Given the description of an element on the screen output the (x, y) to click on. 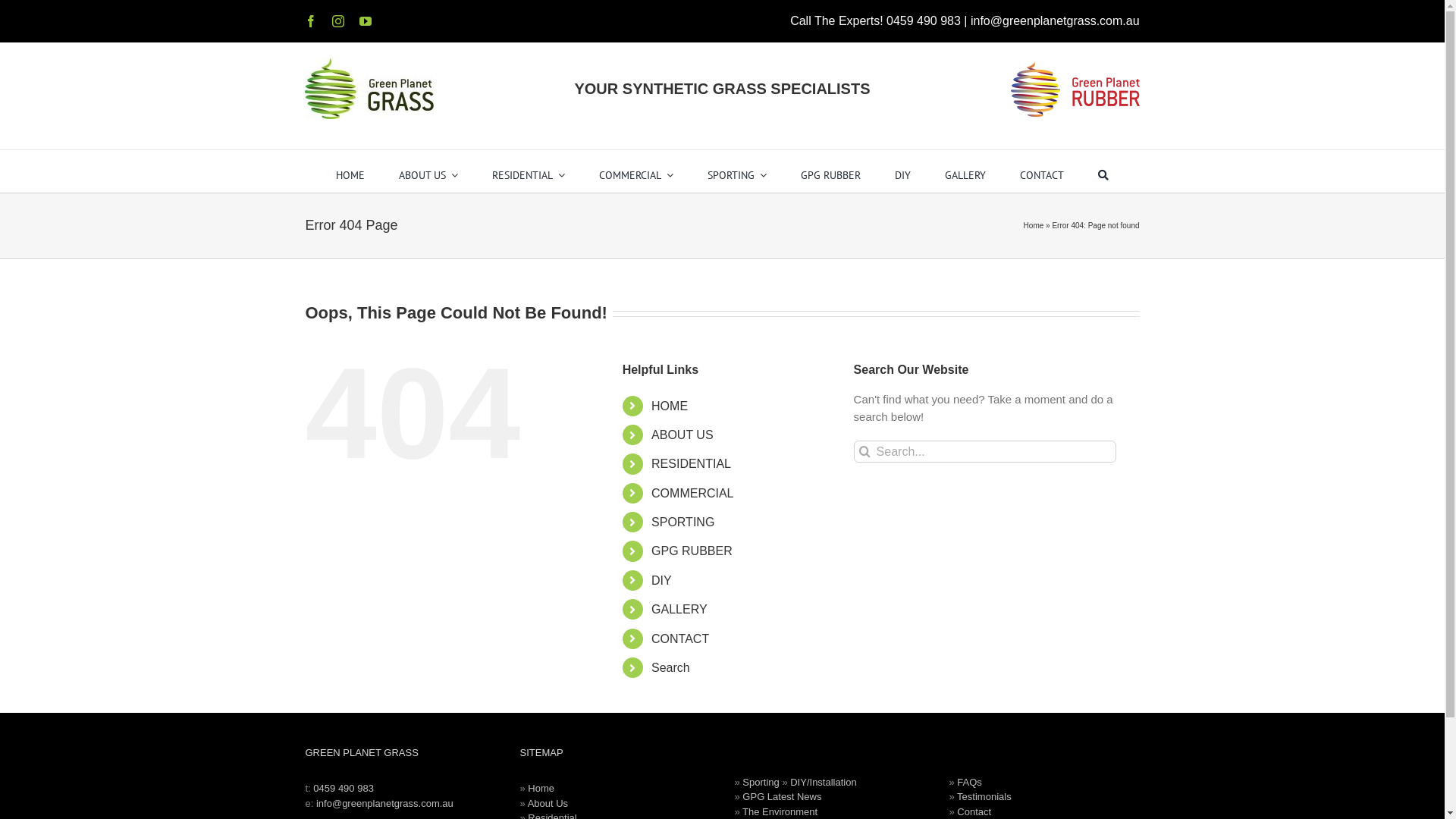
Testimonials Element type: text (984, 796)
COMMERCIAL Element type: text (636, 171)
RESIDENTIAL Element type: text (528, 171)
Search Element type: text (670, 667)
Home Element type: text (540, 787)
RESIDENTIAL Element type: text (691, 463)
GPG Latest News Element type: text (781, 796)
ABOUT US Element type: text (682, 434)
GALLERY Element type: text (679, 608)
0459 490 983 Element type: text (923, 20)
HOME Element type: text (349, 171)
GPG RUBBER Element type: text (691, 550)
DIY/Installation Element type: text (823, 781)
DIY Element type: text (661, 580)
DIY Element type: text (902, 171)
HOME Element type: text (669, 405)
CONTACT Element type: text (680, 638)
Home Element type: text (1033, 225)
SPORTING Element type: text (682, 521)
The Environment Element type: text (779, 811)
About Us Element type: text (547, 803)
GPG RUBBER Element type: text (830, 171)
0459 490 983 Element type: text (343, 787)
ABOUT US Element type: text (428, 171)
Search Element type: hover (1103, 171)
Sporting Element type: text (761, 781)
COMMERCIAL Element type: text (692, 492)
SPORTING Element type: text (736, 171)
Contact Element type: text (974, 811)
CONTACT Element type: text (1041, 171)
info@greenplanetgrass.com.au Element type: text (1054, 20)
FAQs Element type: text (969, 781)
GALLERY Element type: text (964, 171)
info@greenplanetgrass.com.au Element type: text (384, 803)
